Given the description of an element on the screen output the (x, y) to click on. 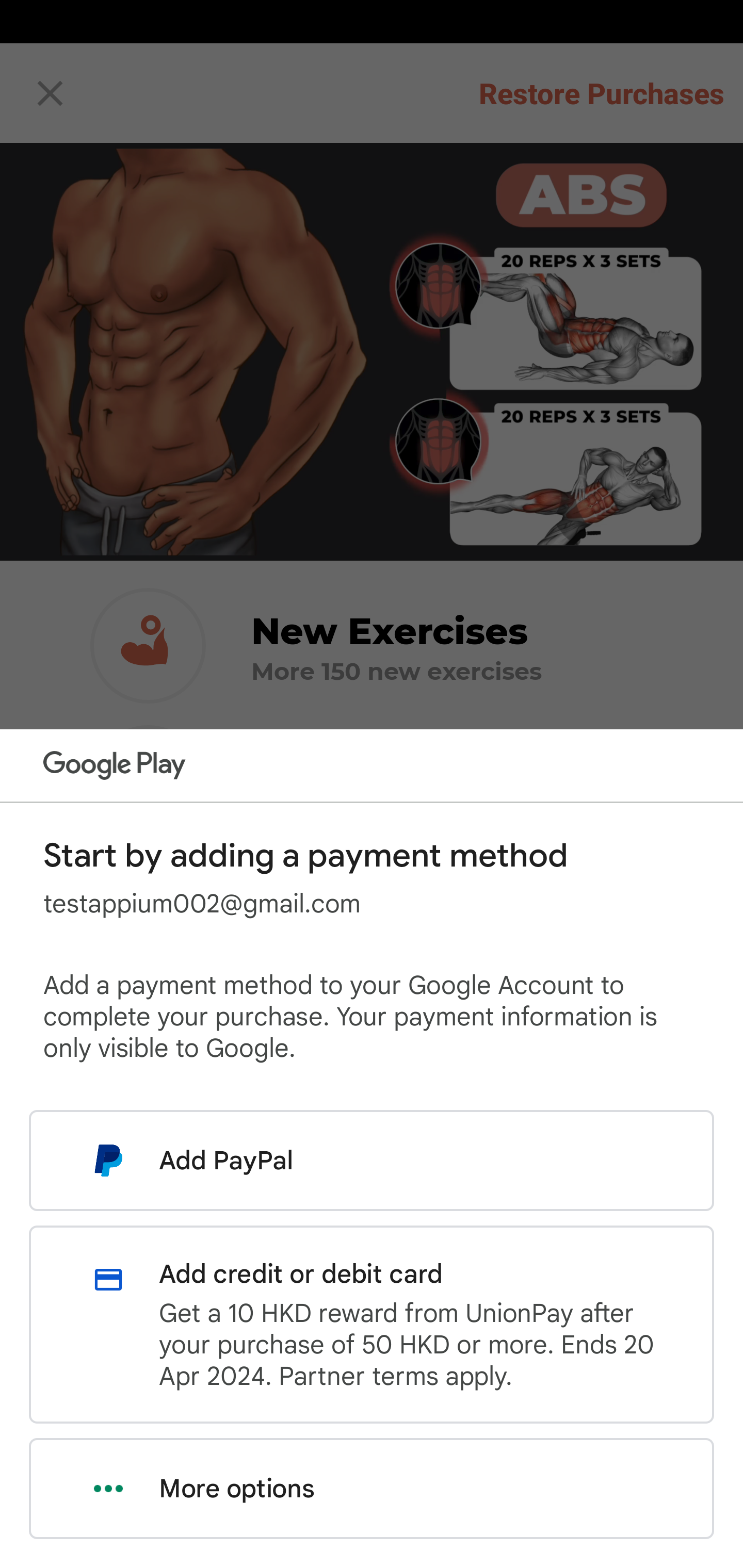
Add PayPal (371, 1160)
More options (371, 1488)
